Given the description of an element on the screen output the (x, y) to click on. 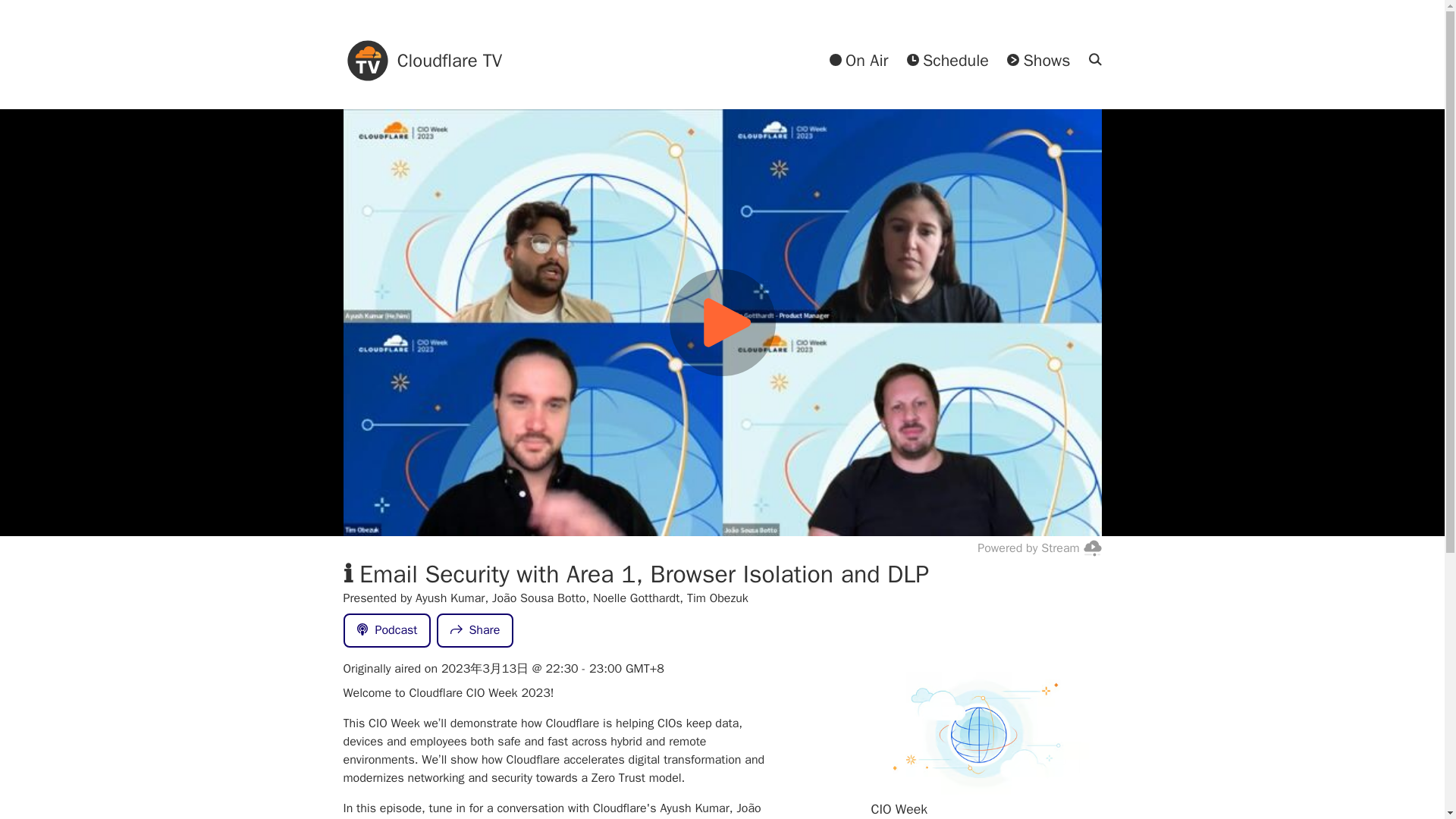
Powered by Stream (1038, 547)
Shows (1038, 60)
 Cloudflare TV (422, 60)
Podcast (386, 630)
On Air (858, 60)
Schedule (947, 60)
Share (474, 630)
